Given the description of an element on the screen output the (x, y) to click on. 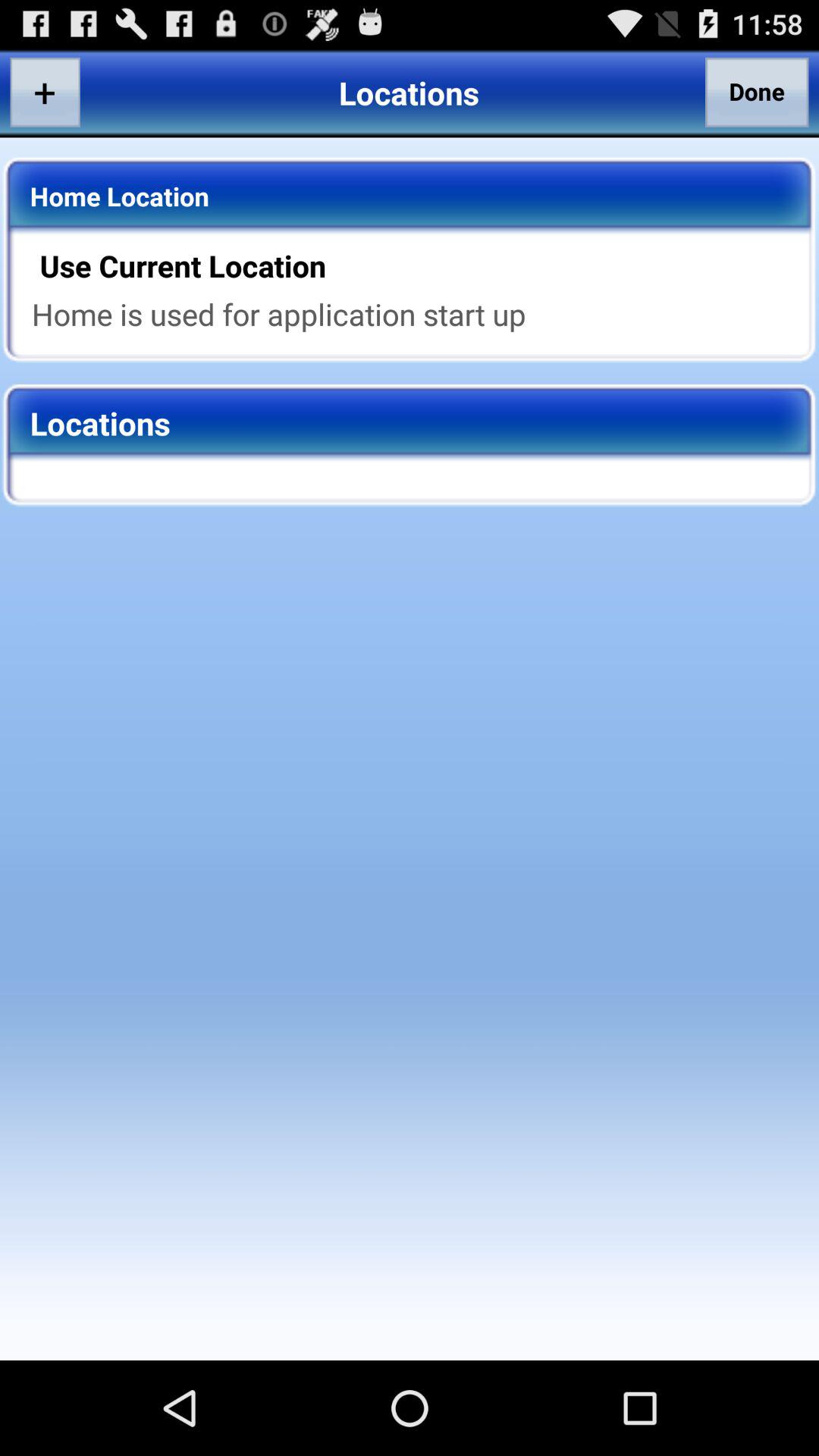
turn off the item above the use current location (756, 92)
